Given the description of an element on the screen output the (x, y) to click on. 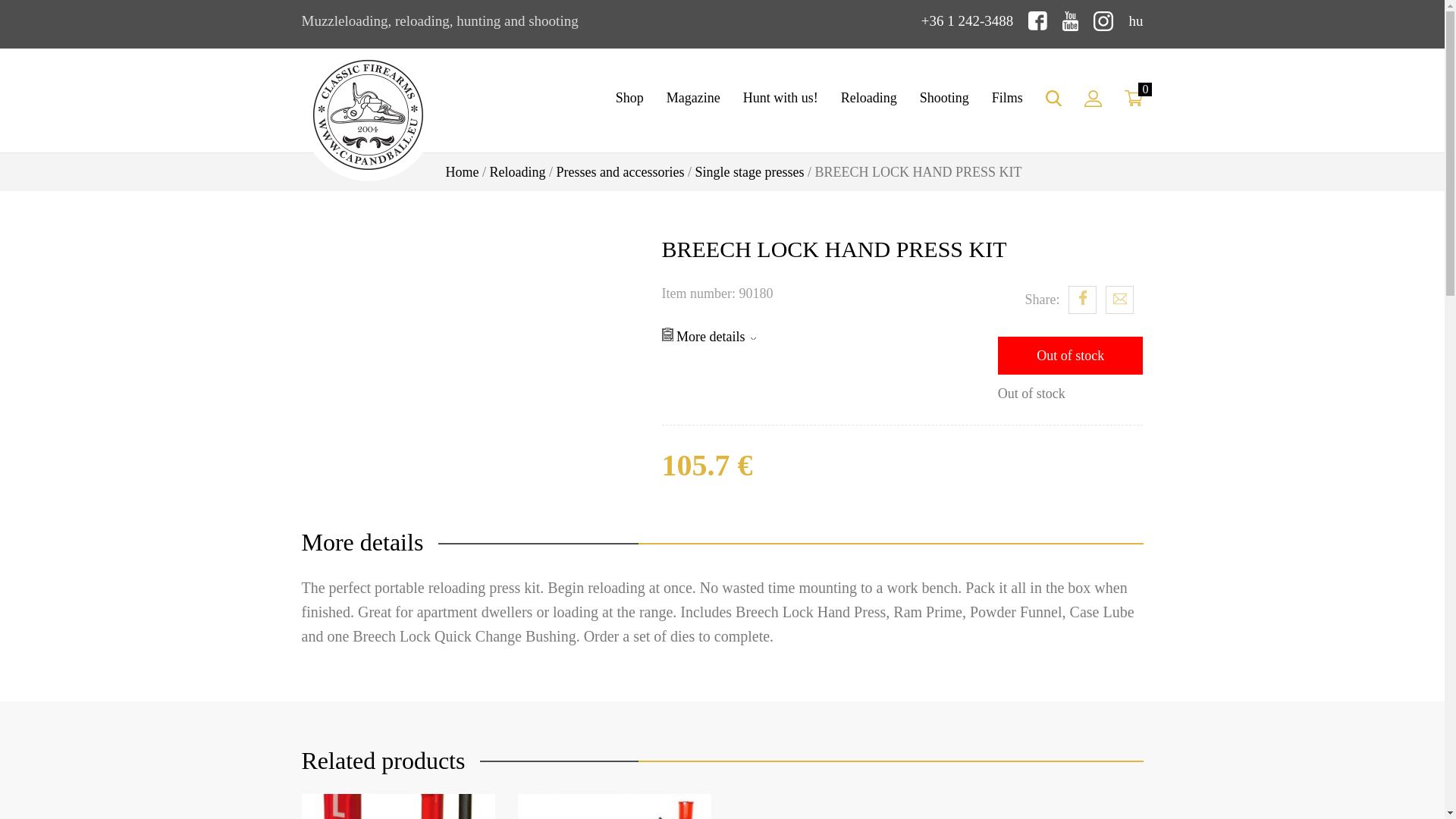
Hunt with us! (780, 98)
hu (1135, 20)
